Given the description of an element on the screen output the (x, y) to click on. 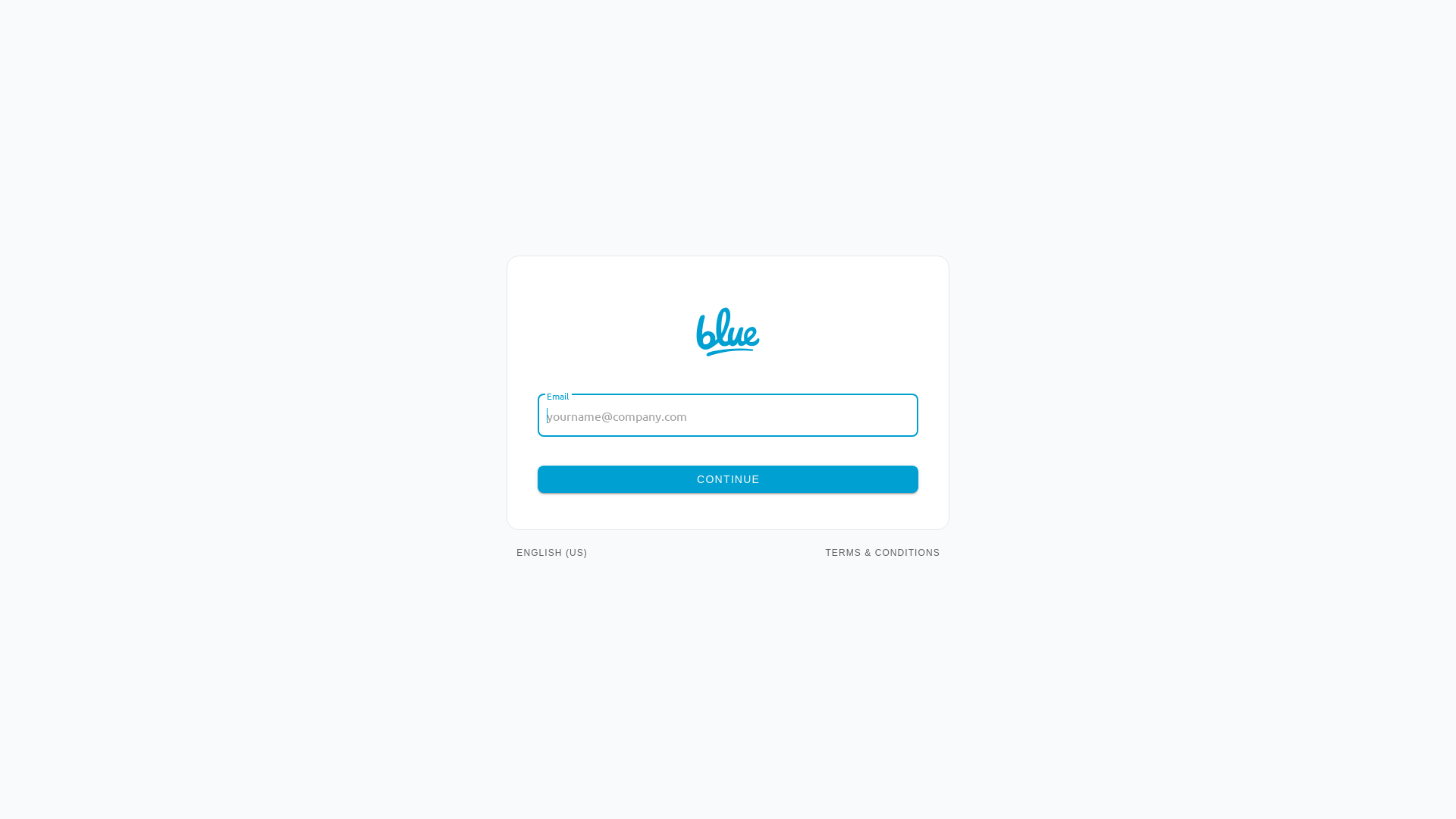
TERMS & CONDITIONS Element type: text (882, 552)
CONTINUE Element type: text (727, 478)
ENGLISH (US) Element type: text (559, 552)
